Given the description of an element on the screen output the (x, y) to click on. 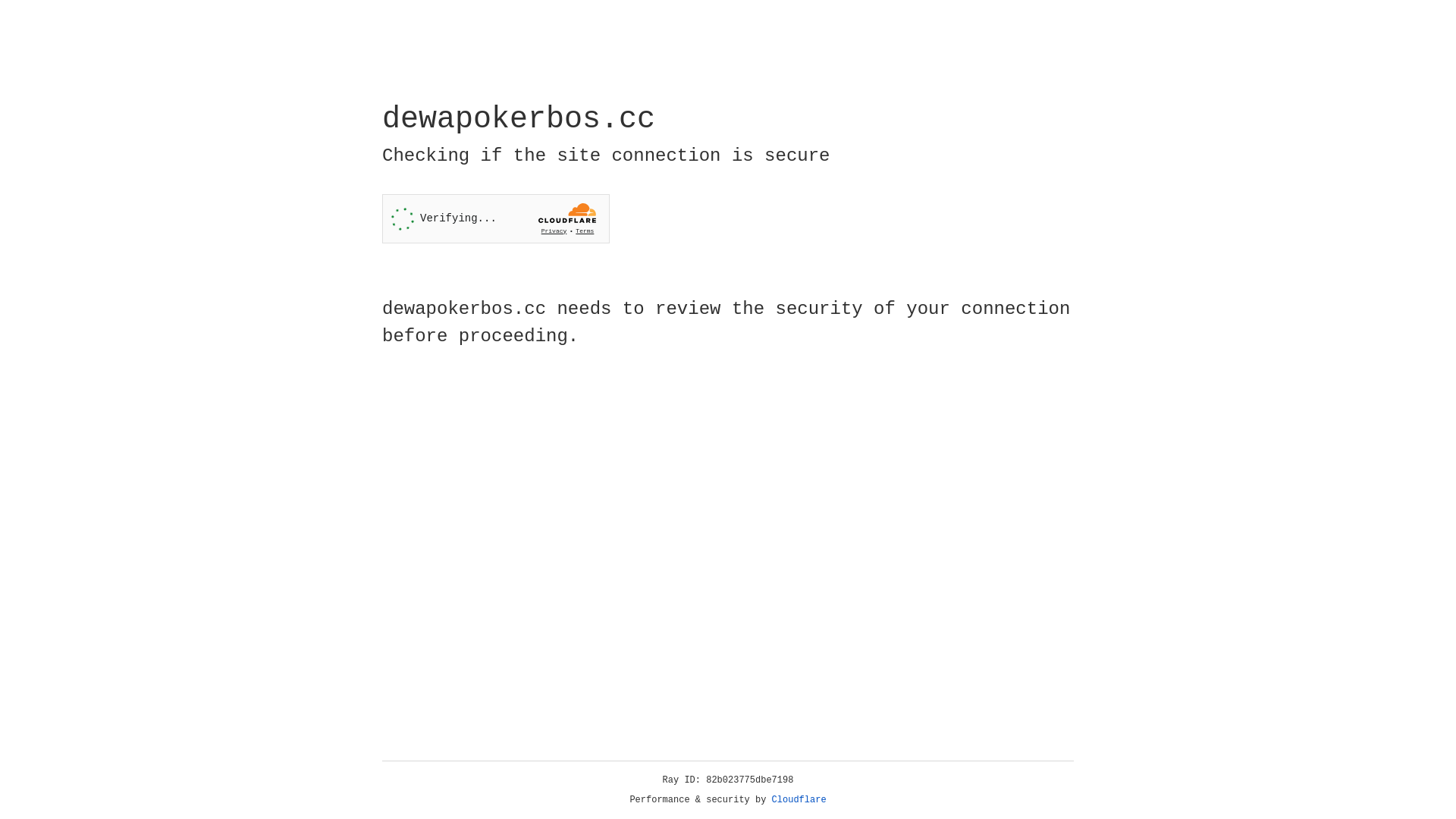
Widget containing a Cloudflare security challenge Element type: hover (495, 218)
Cloudflare Element type: text (798, 799)
